Given the description of an element on the screen output the (x, y) to click on. 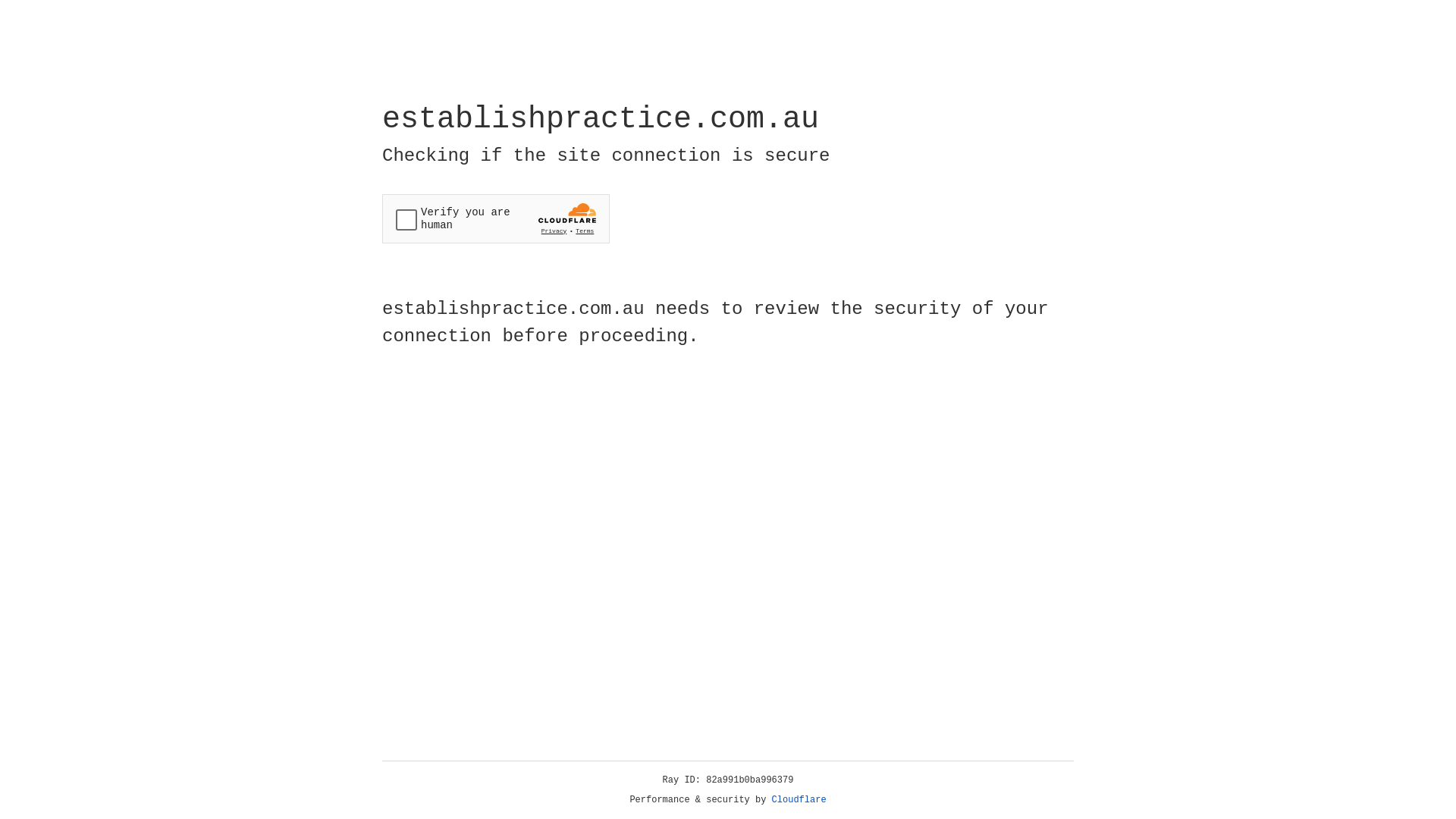
Widget containing a Cloudflare security challenge Element type: hover (495, 218)
Cloudflare Element type: text (798, 799)
